Given the description of an element on the screen output the (x, y) to click on. 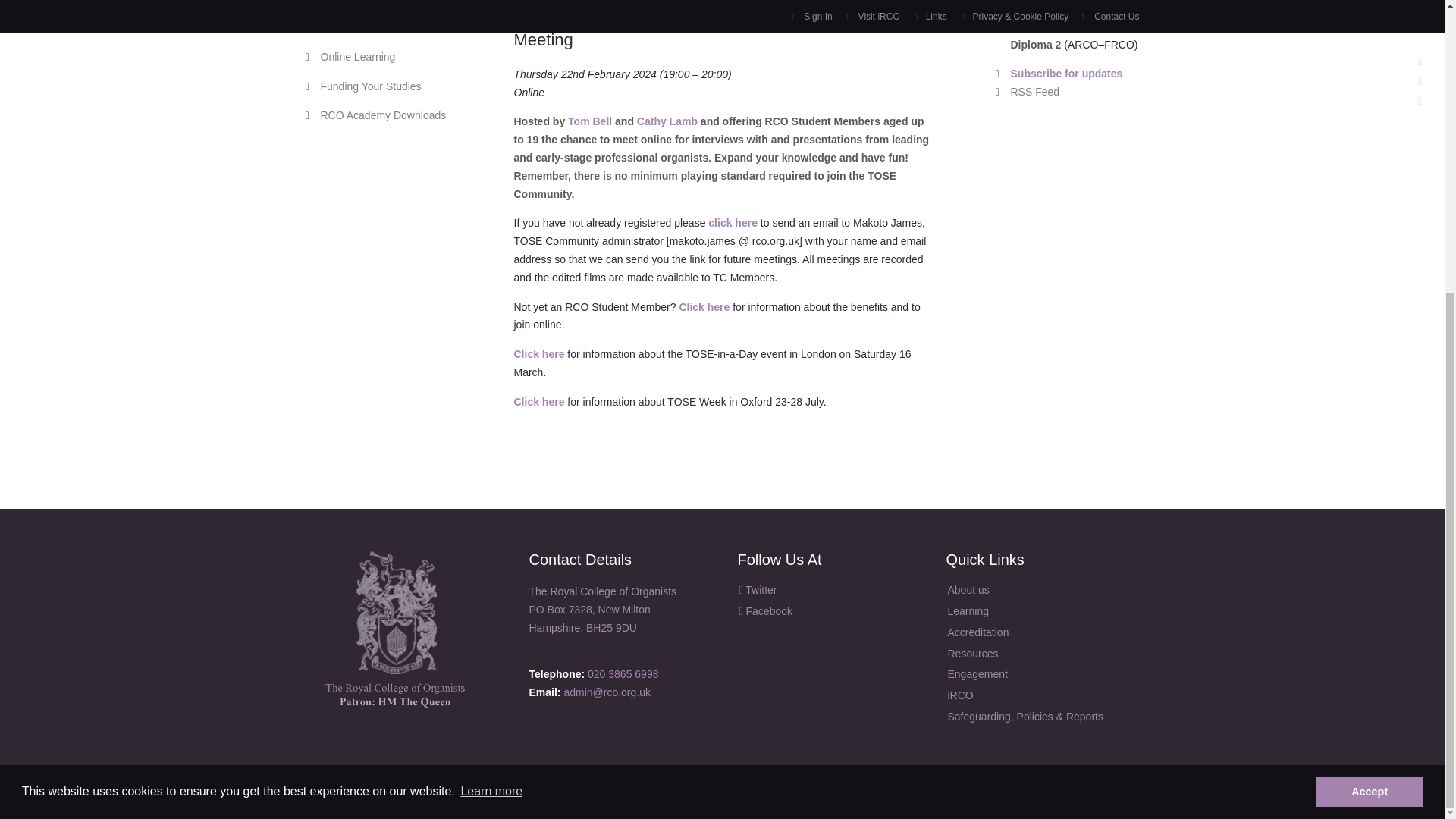
Click to view or subscribe to the RCO Events RSS feed (1074, 92)
Click here  (538, 354)
Click to visit our Facebook page (825, 611)
Click here (538, 401)
Cathy Lamb (667, 121)
Learn more (491, 341)
Accept (1369, 341)
Click to visit our Twitter page (825, 590)
Tom Bell (589, 121)
click here (732, 223)
Click here (703, 306)
